Given the description of an element on the screen output the (x, y) to click on. 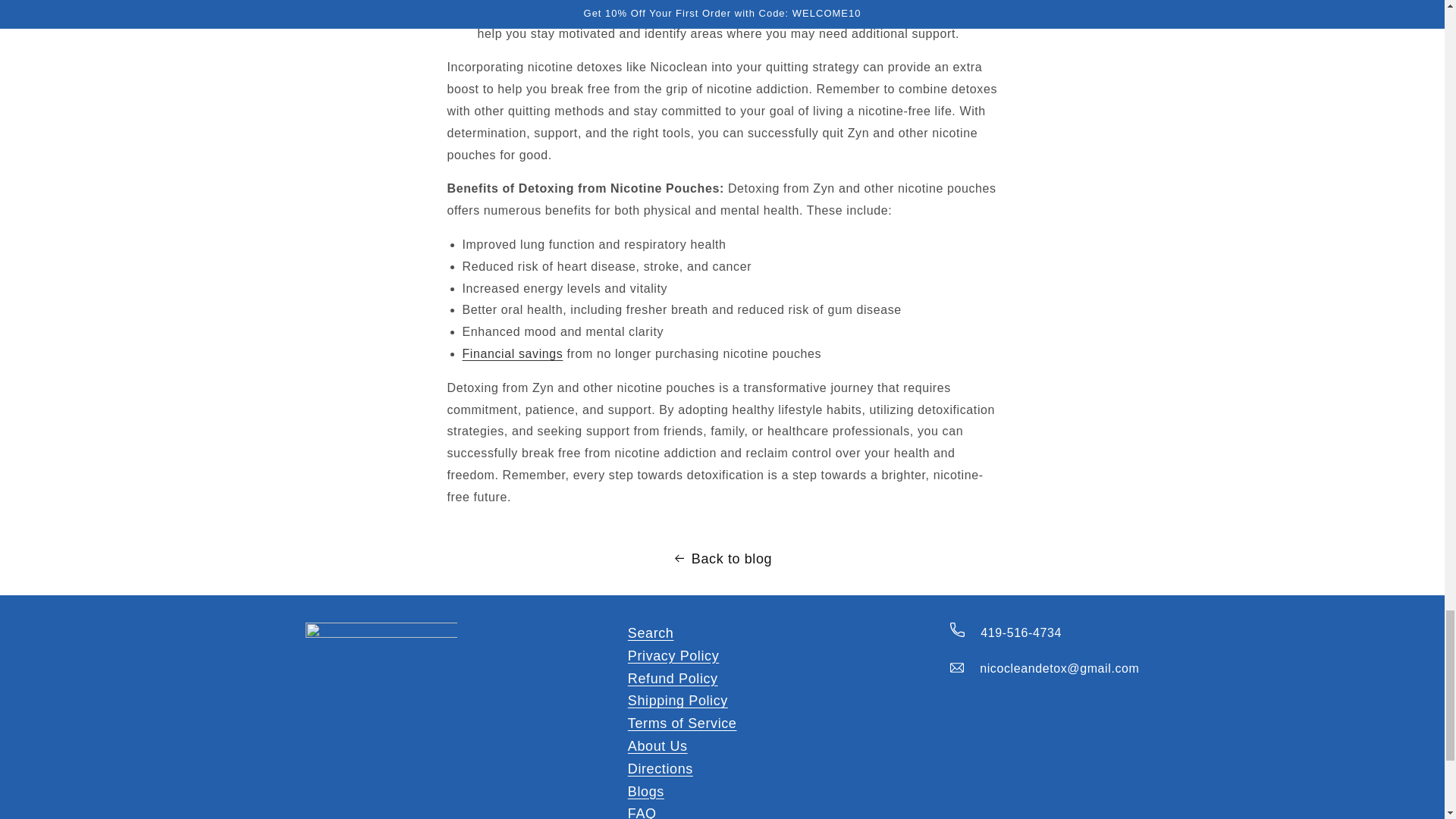
Shipping Policy (677, 700)
Refund Policy (672, 679)
saving money not buying Nicotine (513, 353)
Terms of Service (681, 723)
Financial savings (513, 353)
Privacy Policy (673, 656)
Search (650, 633)
